Given the description of an element on the screen output the (x, y) to click on. 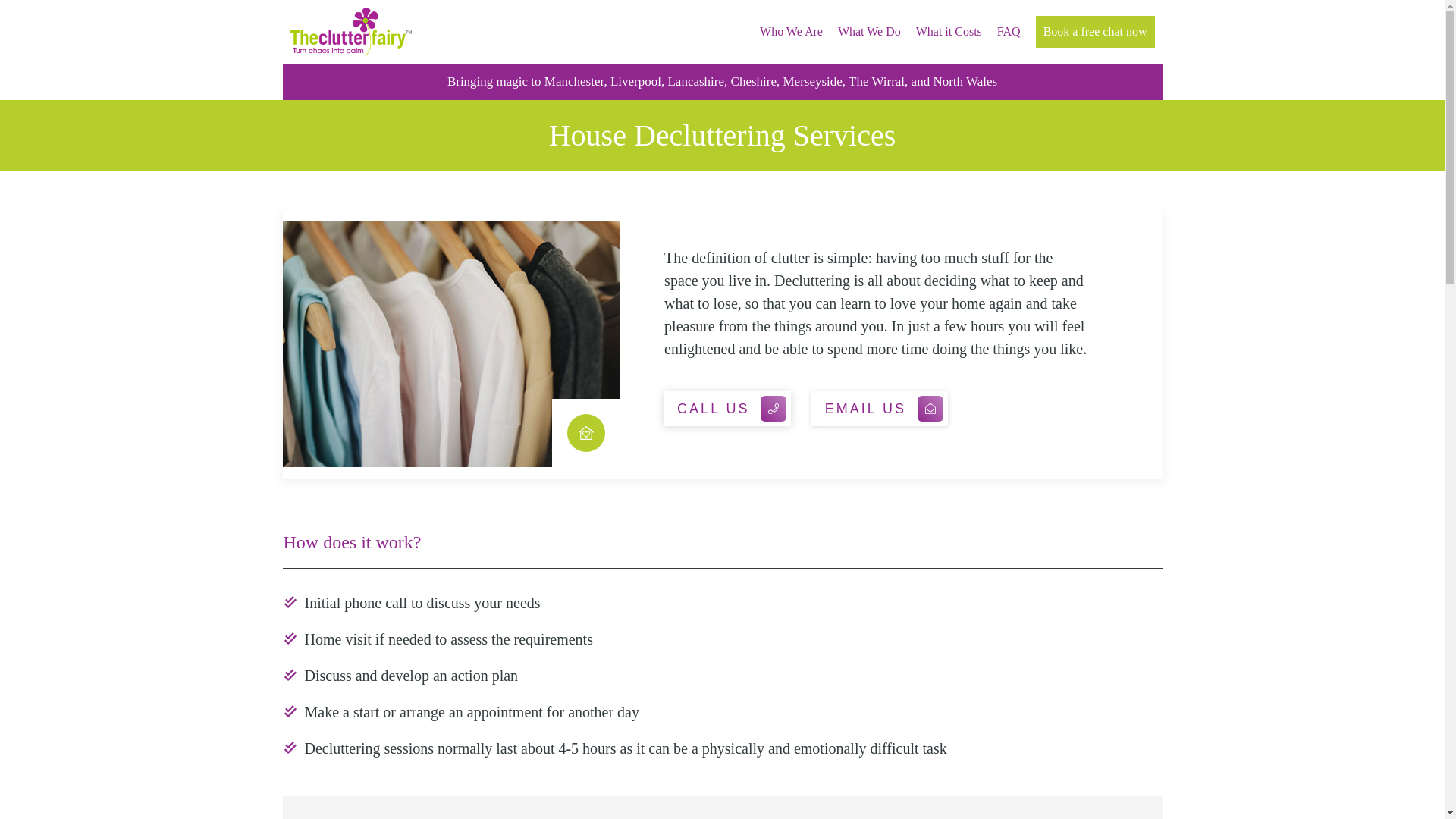
Reach Out Now (75, 19)
Who We Are (791, 31)
FAQ (1008, 31)
What it Costs (948, 31)
Book a free chat now (1095, 31)
What We Do (869, 31)
CALL US (726, 408)
EMAIL US (878, 408)
